Given the description of an element on the screen output the (x, y) to click on. 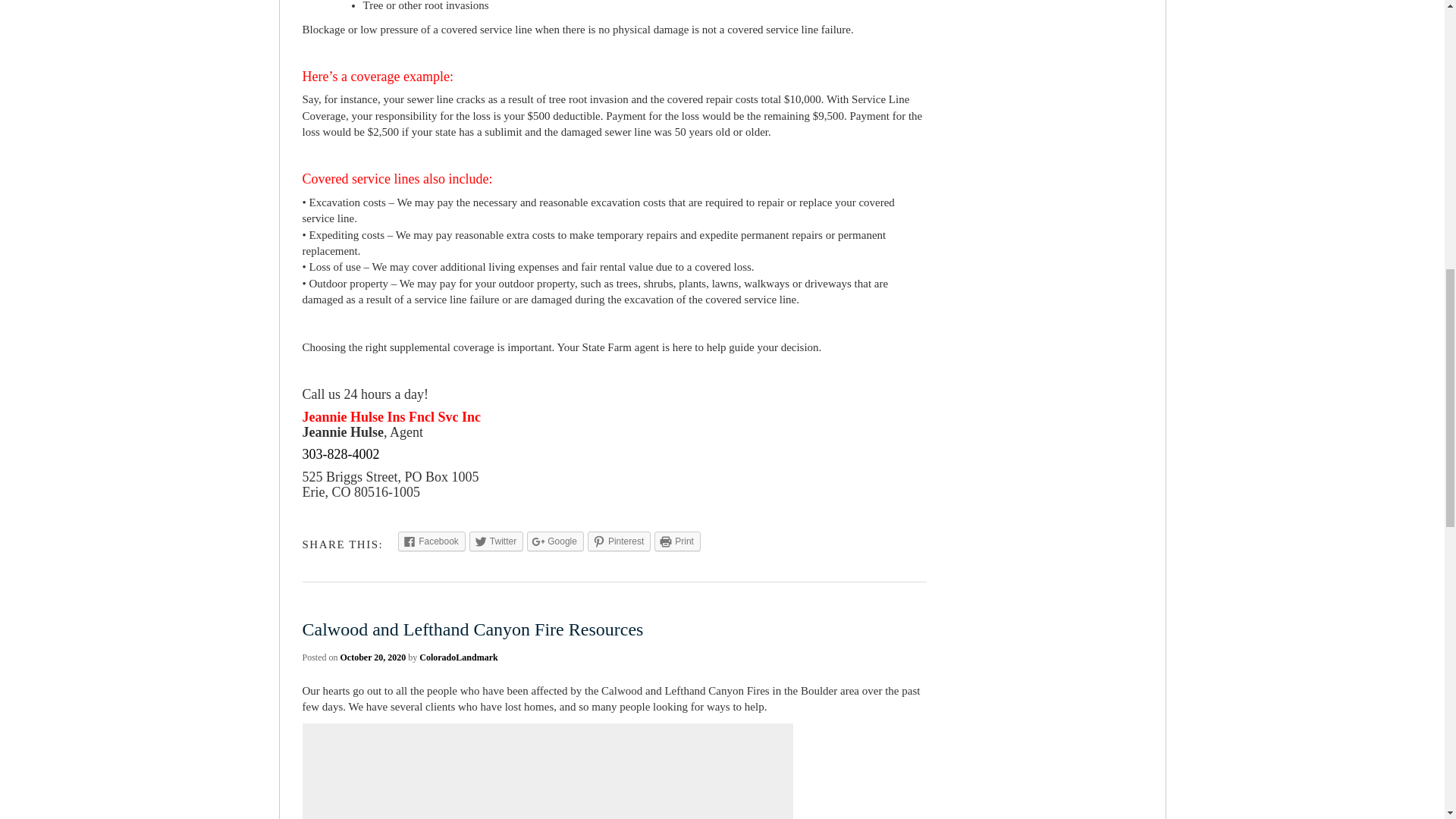
Google (555, 541)
303-828-4002 (339, 453)
Twitter (495, 541)
Facebook (431, 541)
Calwood and Lefthand Canyon Fire Resources (472, 628)
Permalink to Calwood and Lefthand Canyon Fire Resources (472, 628)
October 20, 2020 (373, 656)
Print (676, 541)
Click to share on Twitter (495, 541)
12:17 pm (373, 656)
